Given the description of an element on the screen output the (x, y) to click on. 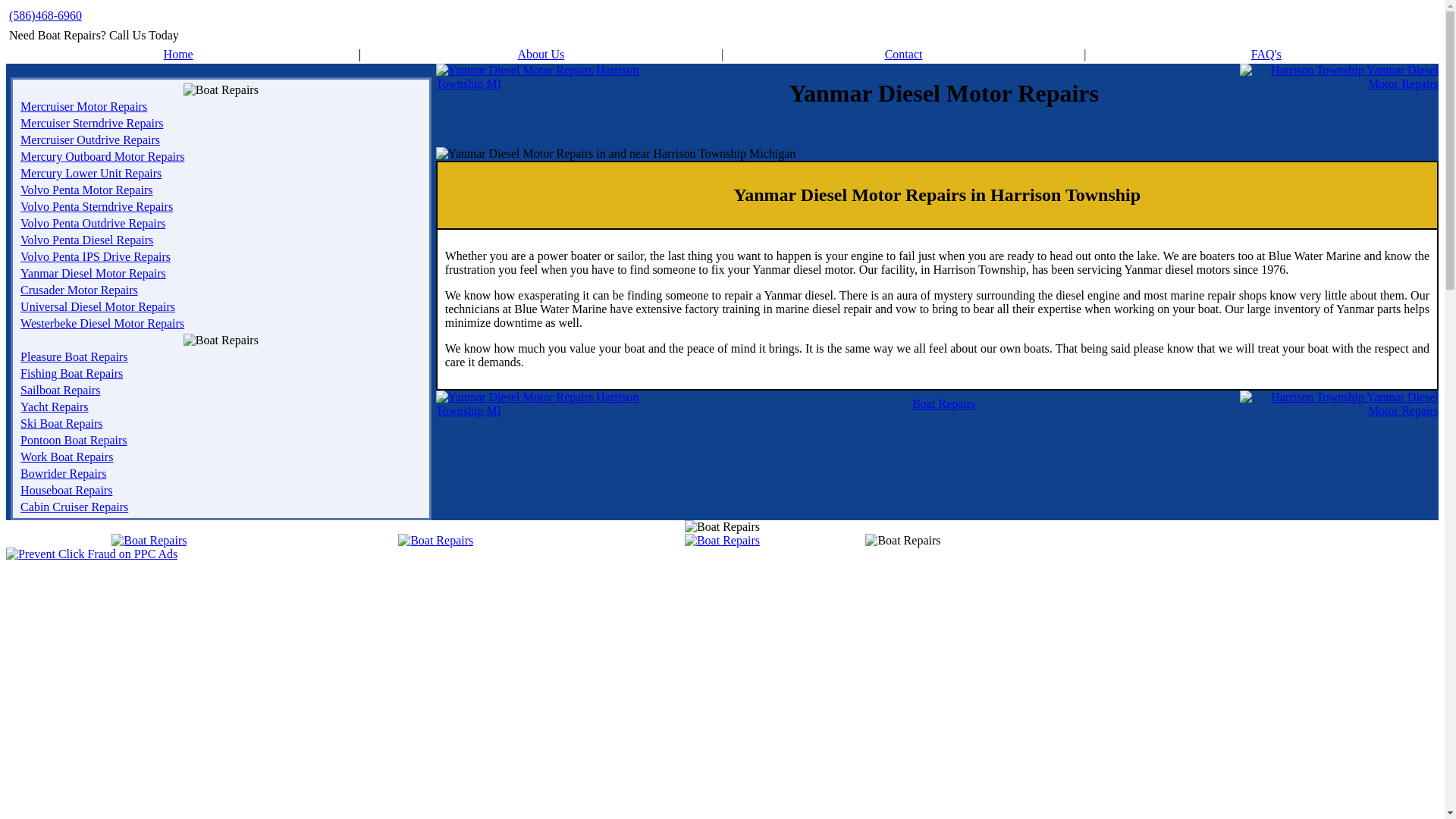
Contact (904, 53)
Fishing Boat Repairs (71, 373)
Bowrider Repairs (63, 472)
About Us (540, 53)
Yacht Repairs (53, 406)
Cabin Cruiser Repairs (74, 506)
Sailboat Repairs (60, 390)
Volvo Penta IPS Drive Repairs (95, 256)
Pontoon Boat Repairs (73, 440)
Volvo Penta Outdrive Repairs (92, 223)
Houseboat Repairs (66, 490)
Pleasure Boat Repairs (74, 356)
Home (178, 53)
Work Boat Repairs (66, 456)
Volvo Penta Diesel Repairs (86, 239)
